Given the description of an element on the screen output the (x, y) to click on. 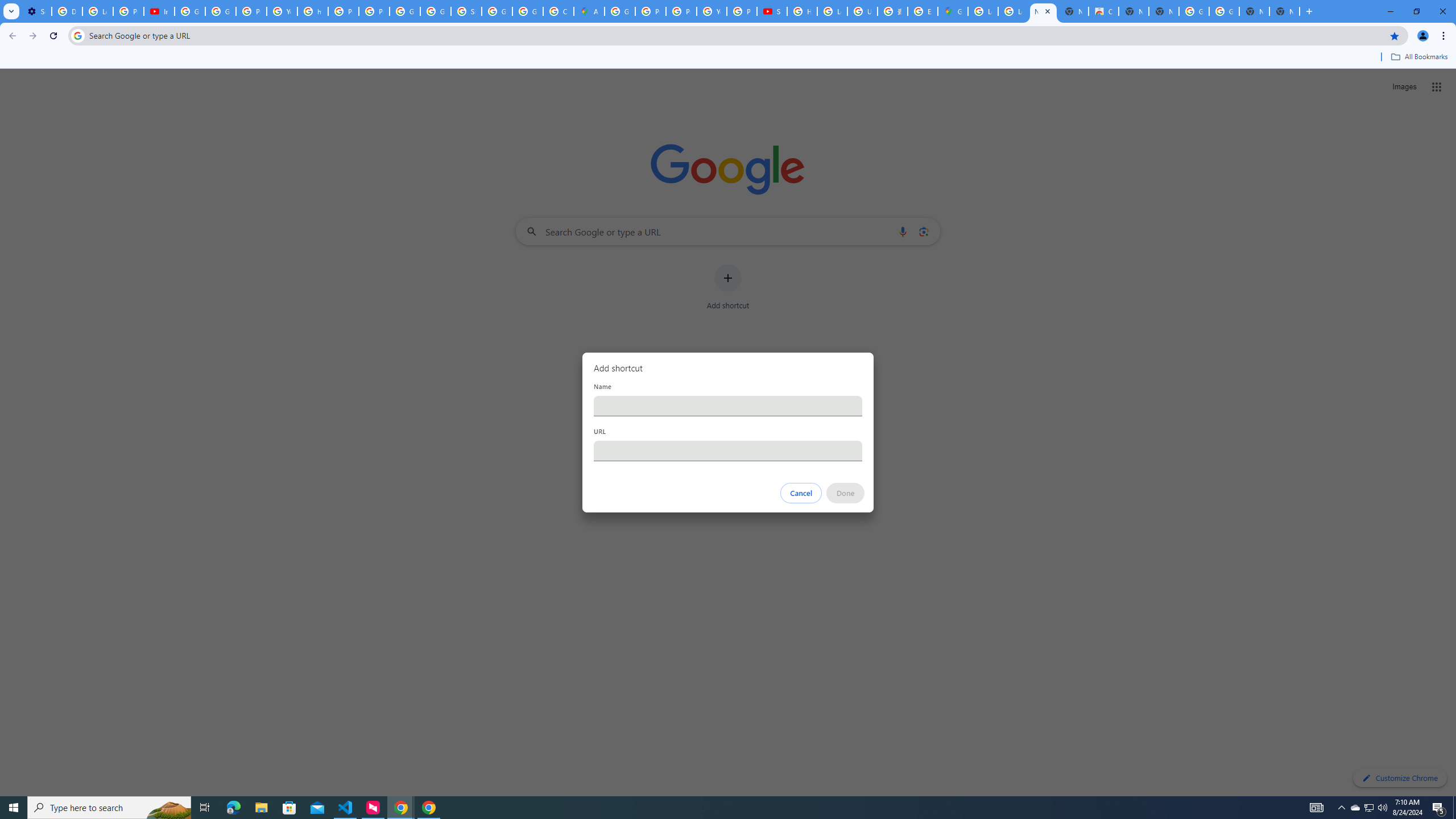
Explore new street-level details - Google Maps Help (922, 11)
Learn how to find your photos - Google Photos Help (97, 11)
Subscriptions - YouTube (771, 11)
New Tab (1283, 11)
Chrome Web Store (1103, 11)
Settings - Performance (36, 11)
